Given the description of an element on the screen output the (x, y) to click on. 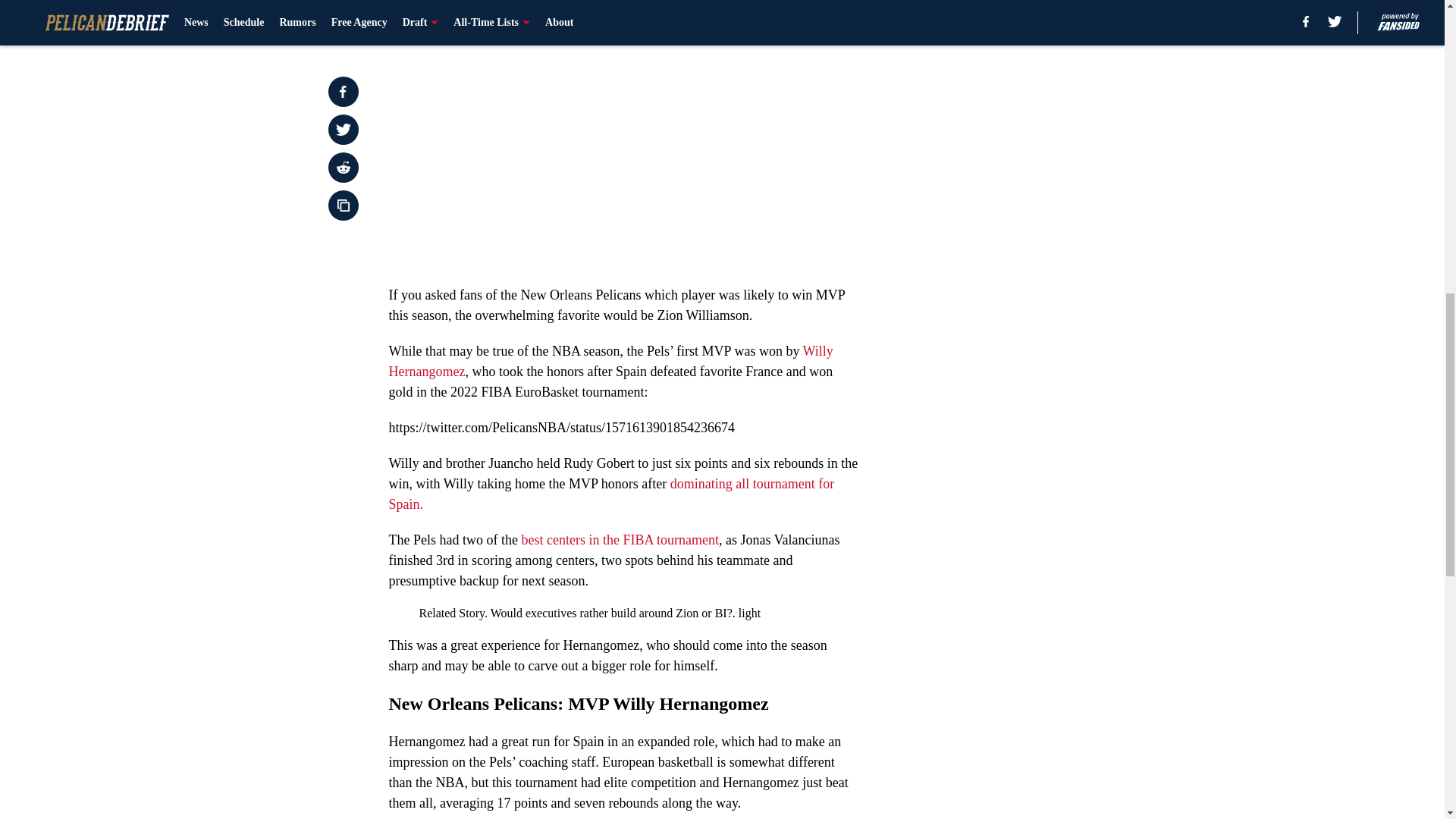
best centers in the FIBA tournament (619, 539)
dominating all tournament for Spain. (611, 493)
Willy Hernangomez (610, 361)
